Given the description of an element on the screen output the (x, y) to click on. 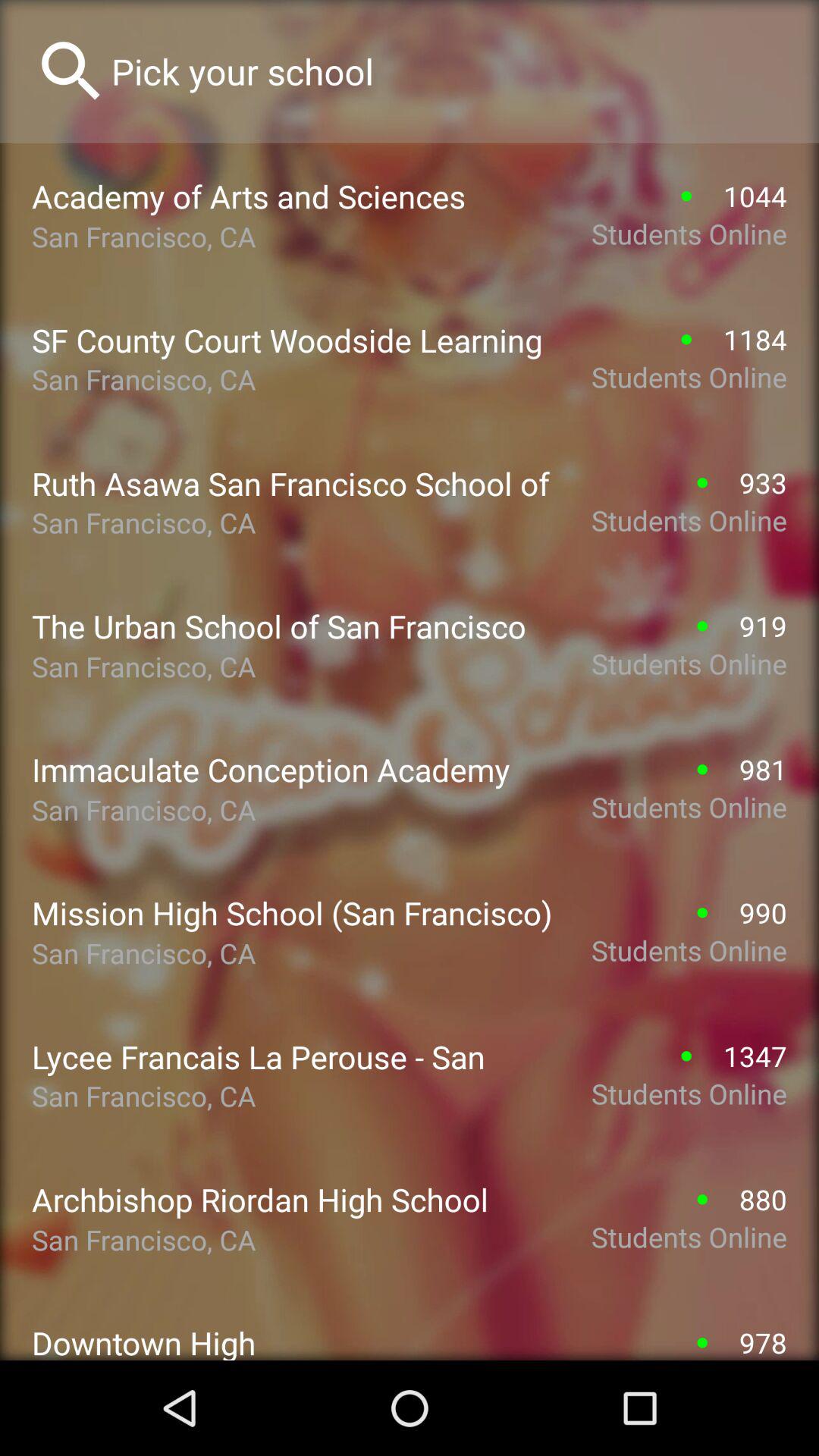
go to search (449, 71)
